Given the description of an element on the screen output the (x, y) to click on. 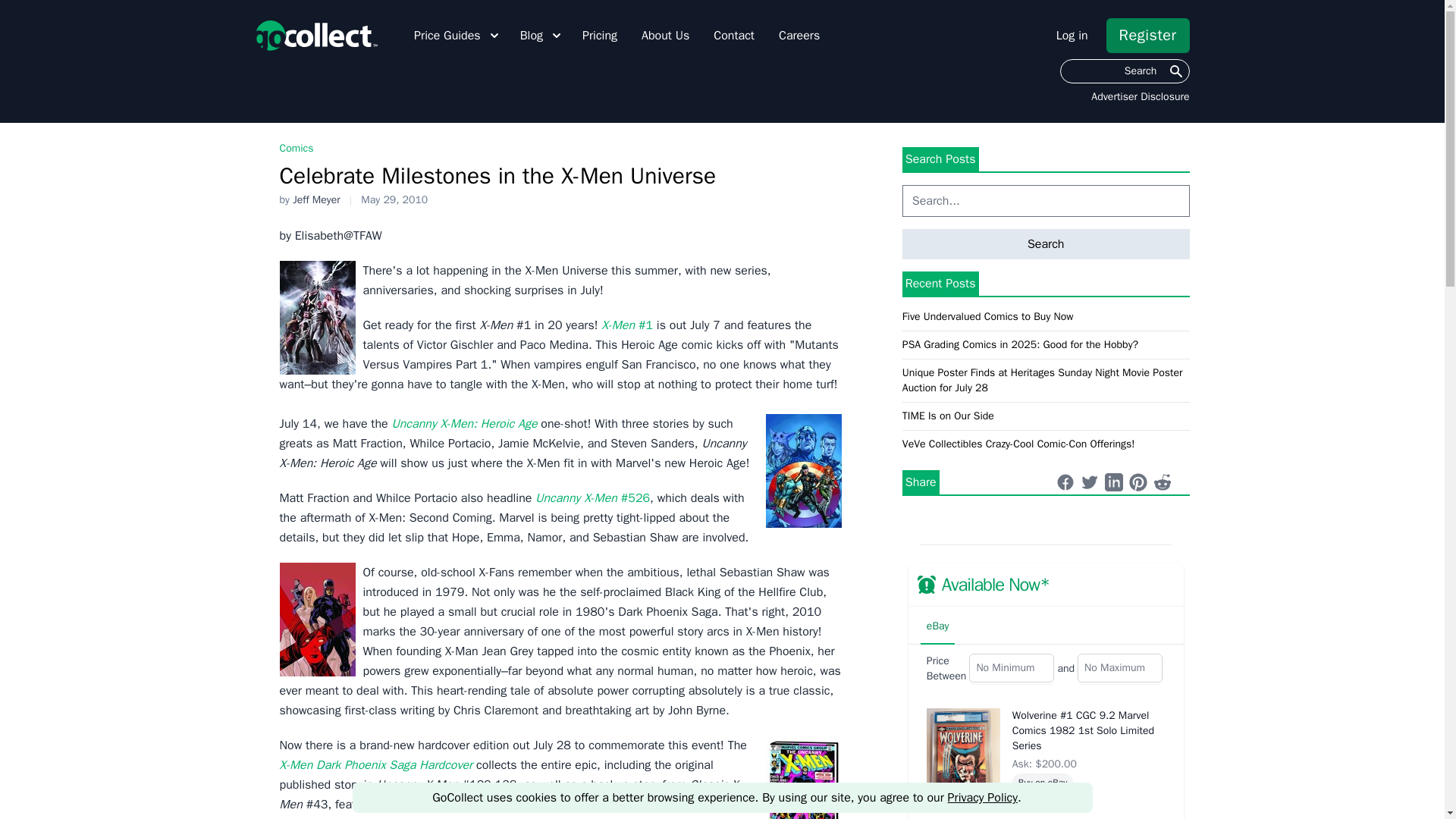
Contact (733, 35)
Search (1124, 70)
Careers (798, 35)
Register (1147, 35)
Blog (541, 35)
Comics (296, 147)
Advertiser Disclosure (1139, 96)
Price Guides (457, 35)
Jeff Meyer (316, 199)
Log in (1072, 35)
GoCollect (315, 35)
About Us (665, 35)
X-Men Dark Phoenix Saga HC (803, 777)
Pricing (599, 35)
